Given the description of an element on the screen output the (x, y) to click on. 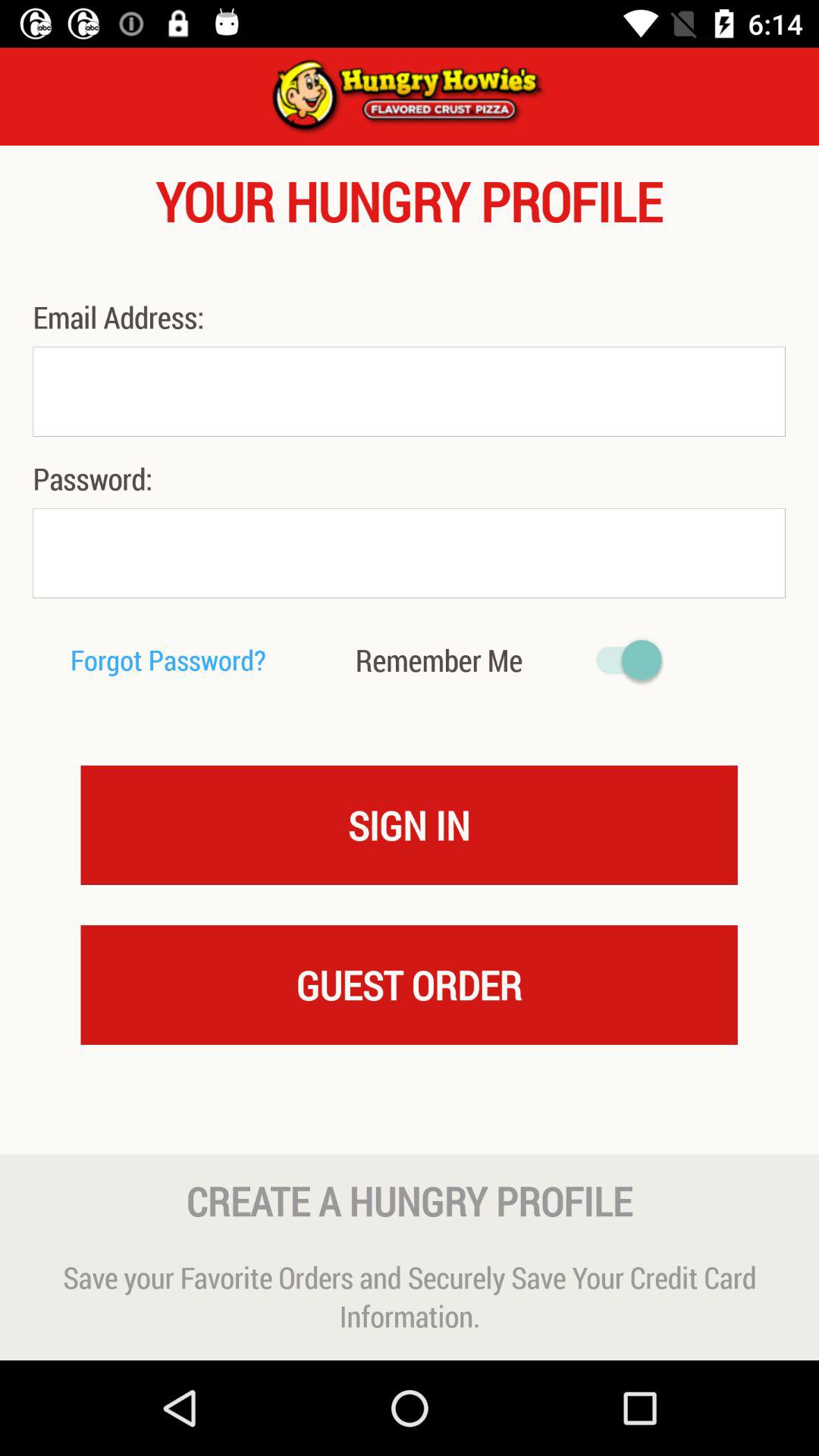
scroll to save your favorite (409, 1296)
